Given the description of an element on the screen output the (x, y) to click on. 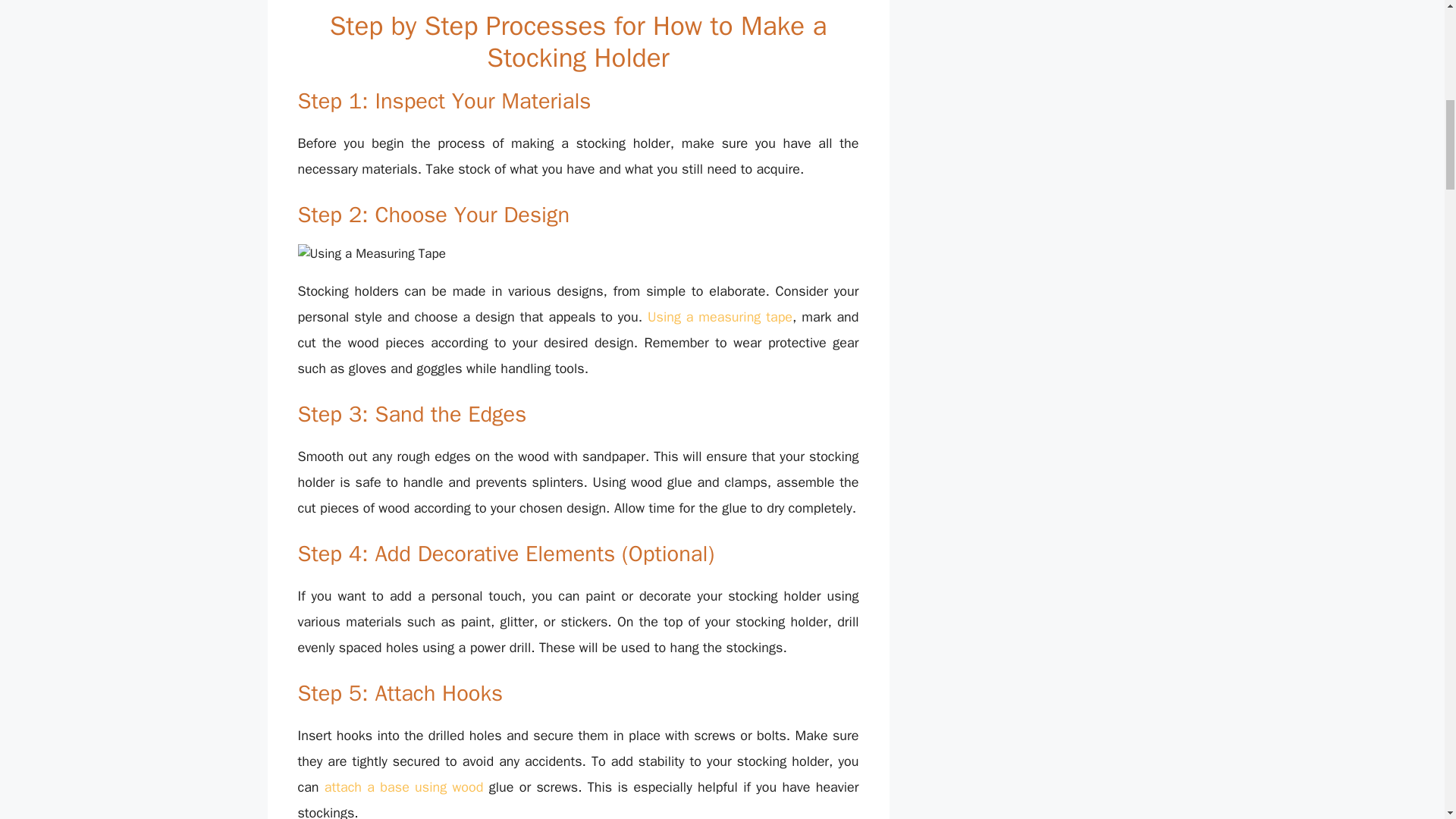
attach a base using wood (403, 786)
Using a measuring tape (719, 316)
Scroll back to top (1406, 720)
